Given the description of an element on the screen output the (x, y) to click on. 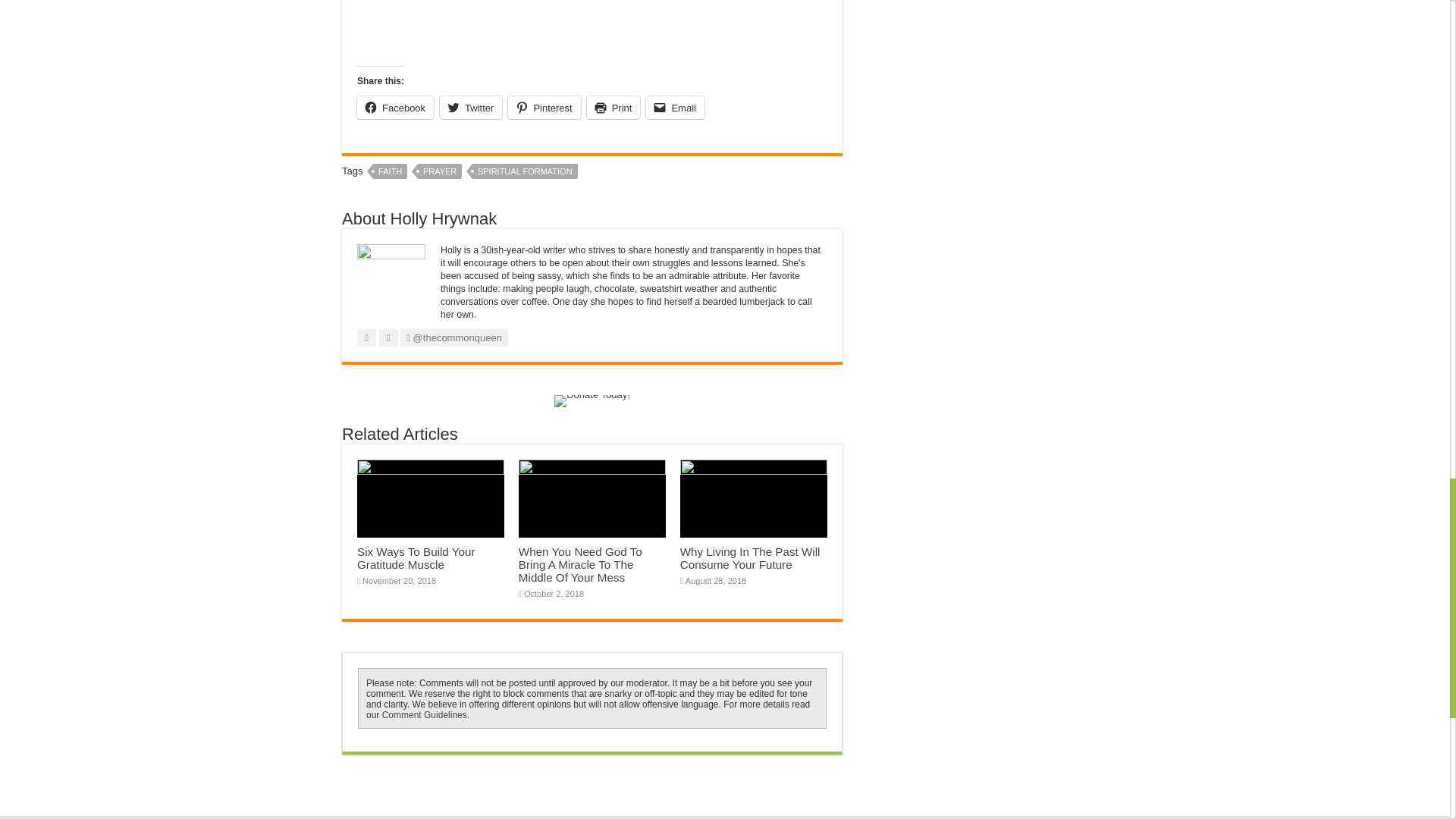
PRAYER (439, 171)
Facebook (394, 107)
Email (675, 107)
Pinterest (543, 107)
Twitter (470, 107)
Print (613, 107)
FAITH (389, 171)
